Given the description of an element on the screen output the (x, y) to click on. 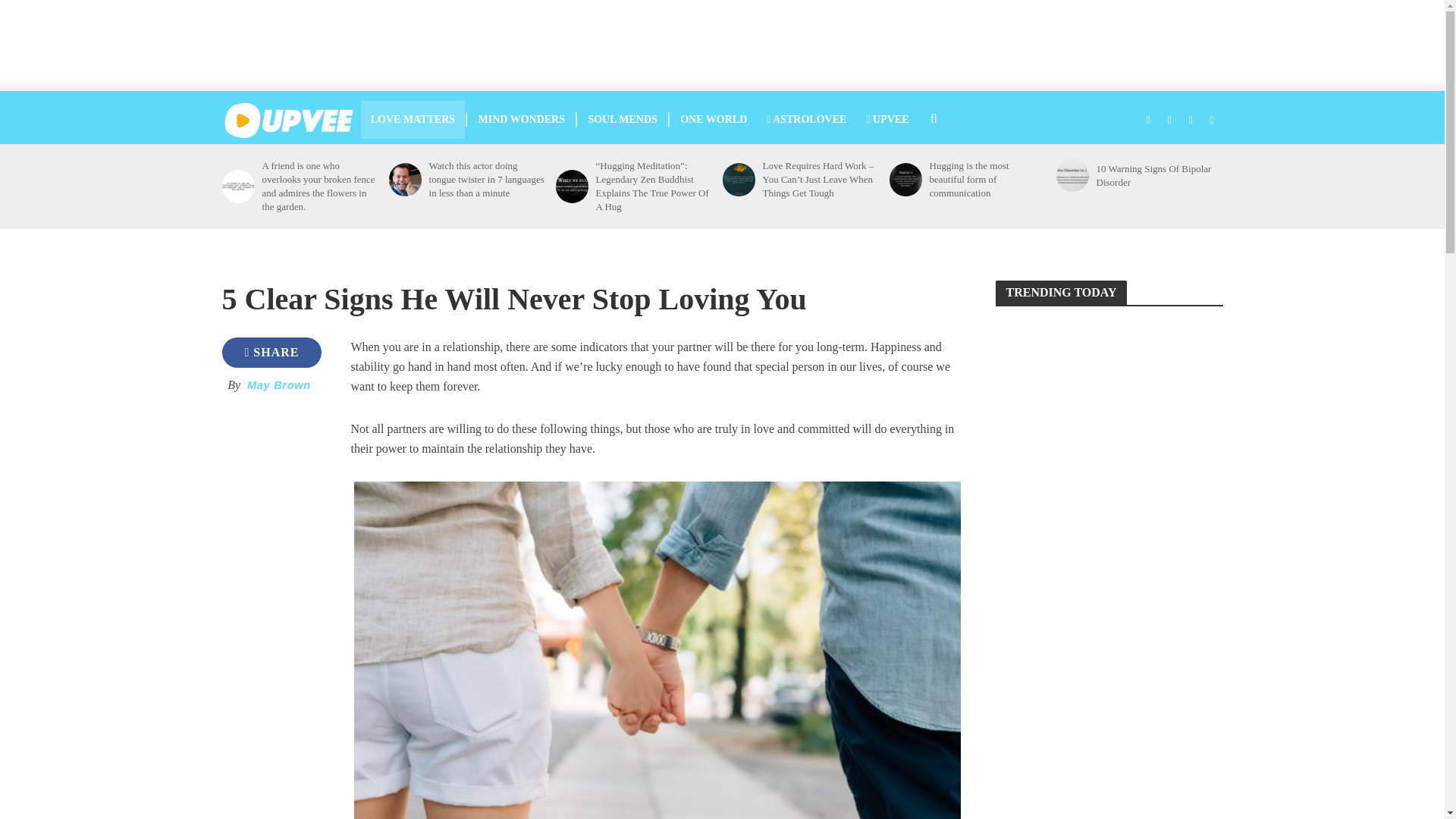
UPVEE (887, 119)
10 Warning Signs Of Bipolar Disorder (1071, 174)
SOUL MENDS (622, 119)
MIND WONDERS (521, 119)
ONE WORLD (713, 119)
Author Name (279, 385)
Hugging is the most beautiful form of communication (988, 178)
Hugging is the most beautiful form of communication (904, 178)
10 Warning Signs Of Bipolar Disorder (1154, 175)
ASTROLOVEE (806, 119)
LOVE MATTERS (412, 119)
